Given the description of an element on the screen output the (x, y) to click on. 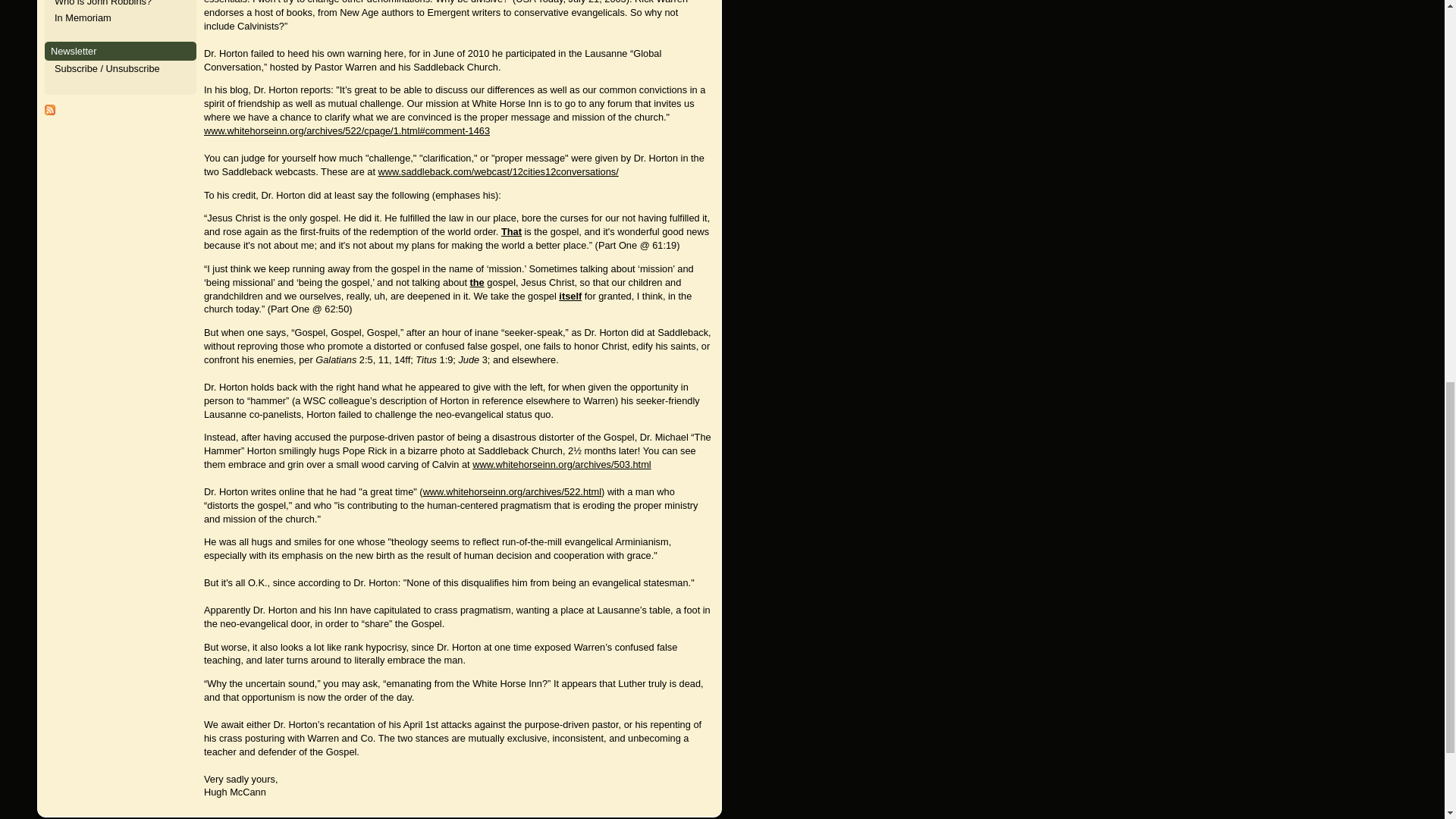
Who is John Robbins? (103, 3)
In Memoriam (83, 17)
RSS Feed (50, 111)
